Given the description of an element on the screen output the (x, y) to click on. 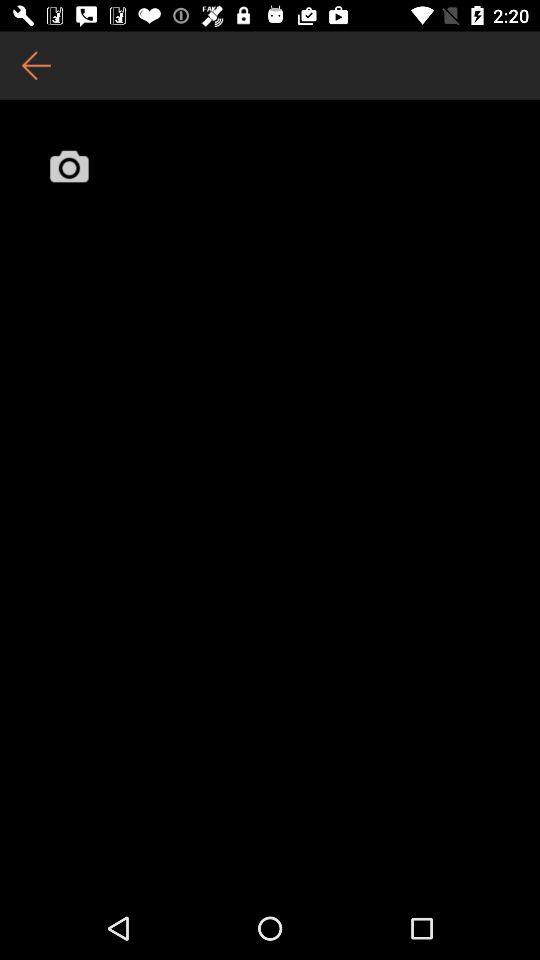
take a photo (69, 166)
